Given the description of an element on the screen output the (x, y) to click on. 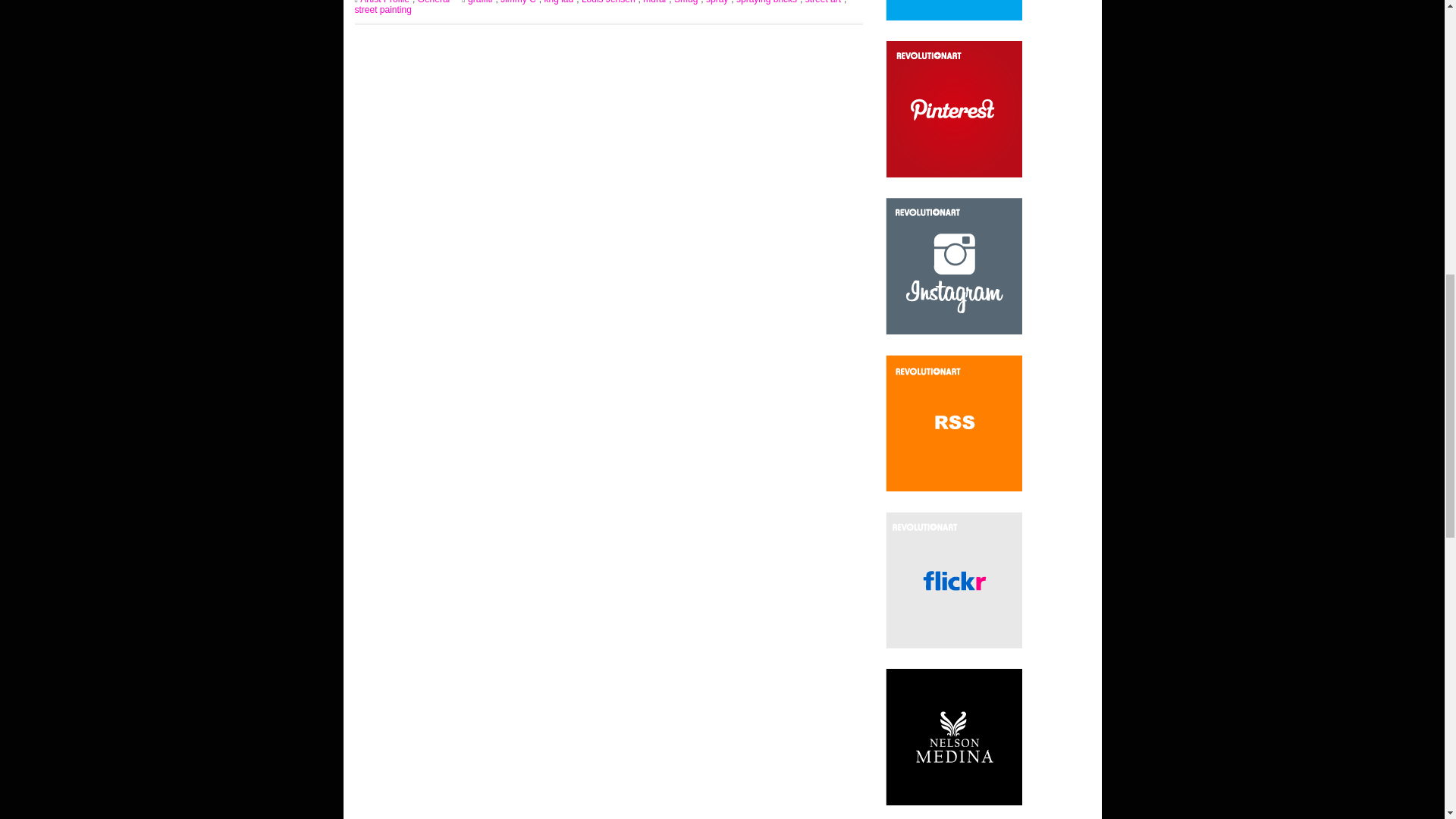
street painting (384, 9)
Jimmy C (519, 2)
Smug (687, 2)
General (434, 2)
spraying bricks (767, 2)
graffiti (481, 2)
Artist Profile (385, 2)
spray (718, 2)
mural (655, 2)
street art (824, 2)
Louis Jensen (609, 2)
kng lad (560, 2)
